Given the description of an element on the screen output the (x, y) to click on. 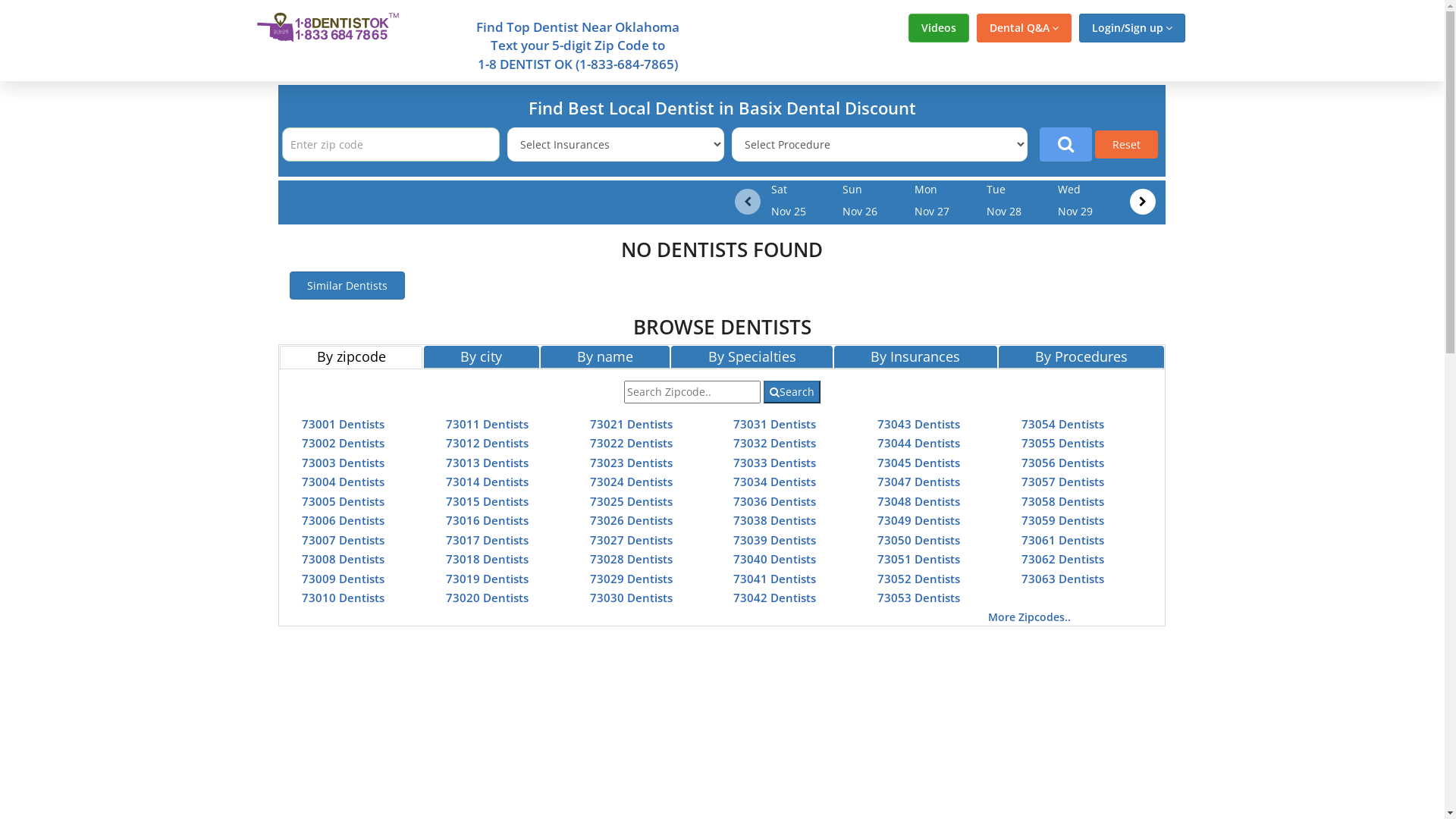
73010 Dentists Element type: text (342, 597)
73016 Dentists Element type: text (486, 519)
73038 Dentists Element type: text (774, 519)
Videos Element type: text (938, 27)
73057 Dentists Element type: text (1062, 481)
73006 Dentists Element type: text (342, 519)
73018 Dentists Element type: text (486, 558)
73059 Dentists Element type: text (1062, 519)
73043 Dentists Element type: text (918, 422)
73008 Dentists Element type: text (342, 558)
73020 Dentists Element type: text (486, 597)
73004 Dentists Element type: text (342, 481)
73011 Dentists Element type: text (486, 422)
Similar Dentists Element type: text (346, 285)
Reset Element type: text (1126, 144)
73003 Dentists Element type: text (342, 462)
73063 Dentists Element type: text (1062, 577)
By name Element type: text (605, 356)
73023 Dentists Element type: text (630, 462)
73032 Dentists Element type: text (774, 442)
73028 Dentists Element type: text (630, 558)
By Insurances Element type: text (915, 356)
73034 Dentists Element type: text (774, 481)
73052 Dentists Element type: text (918, 577)
73050 Dentists Element type: text (918, 539)
73026 Dentists Element type: text (630, 519)
73001 Dentists Element type: text (342, 422)
73024 Dentists Element type: text (630, 481)
73061 Dentists Element type: text (1062, 539)
73019 Dentists Element type: text (486, 577)
73054 Dentists Element type: text (1062, 422)
Advertisement Element type: hover (129, 308)
73021 Dentists Element type: text (630, 422)
More Zipcodes.. Element type: text (1029, 616)
73051 Dentists Element type: text (918, 558)
Login/Sign up Element type: text (1131, 27)
By zipcode Element type: text (350, 356)
73033 Dentists Element type: text (774, 462)
By city Element type: text (481, 356)
73027 Dentists Element type: text (630, 539)
73040 Dentists Element type: text (774, 558)
73005 Dentists Element type: text (342, 500)
73002 Dentists Element type: text (342, 442)
73048 Dentists Element type: text (918, 500)
73047 Dentists Element type: text (918, 481)
73009 Dentists Element type: text (342, 577)
73058 Dentists Element type: text (1062, 500)
73044 Dentists Element type: text (918, 442)
73062 Dentists Element type: text (1062, 558)
73045 Dentists Element type: text (918, 462)
73036 Dentists Element type: text (774, 500)
By Procedures Element type: text (1081, 356)
73039 Dentists Element type: text (774, 539)
73055 Dentists Element type: text (1062, 442)
73007 Dentists Element type: text (342, 539)
73030 Dentists Element type: text (630, 597)
By Specialties Element type: text (751, 356)
73013 Dentists Element type: text (486, 462)
73029 Dentists Element type: text (630, 577)
73014 Dentists Element type: text (486, 481)
Advertisement Element type: hover (1313, 308)
73025 Dentists Element type: text (630, 500)
73056 Dentists Element type: text (1062, 462)
73022 Dentists Element type: text (630, 442)
73015 Dentists Element type: text (486, 500)
Dental Q&A Element type: text (1023, 27)
73017 Dentists Element type: text (486, 539)
73031 Dentists Element type: text (774, 422)
73012 Dentists Element type: text (486, 442)
73049 Dentists Element type: text (918, 519)
Search Element type: text (791, 391)
73042 Dentists Element type: text (774, 597)
73041 Dentists Element type: text (774, 577)
73053 Dentists Element type: text (918, 597)
